Given the description of an element on the screen output the (x, y) to click on. 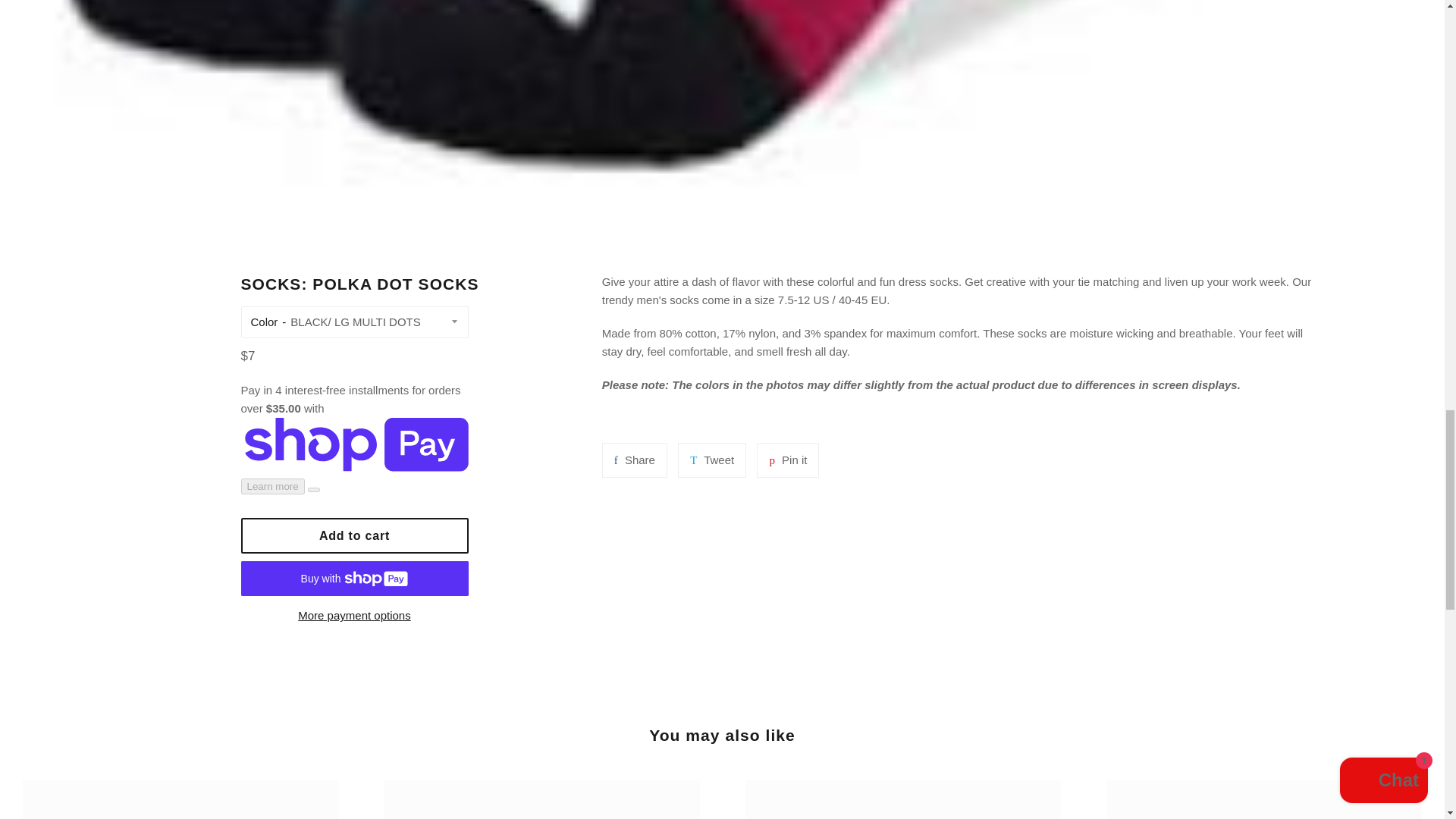
Pin on Pinterest (787, 460)
Add to cart (634, 460)
Tweet on Twitter (354, 535)
More payment options (711, 460)
Share on Facebook (354, 615)
